Given the description of an element on the screen output the (x, y) to click on. 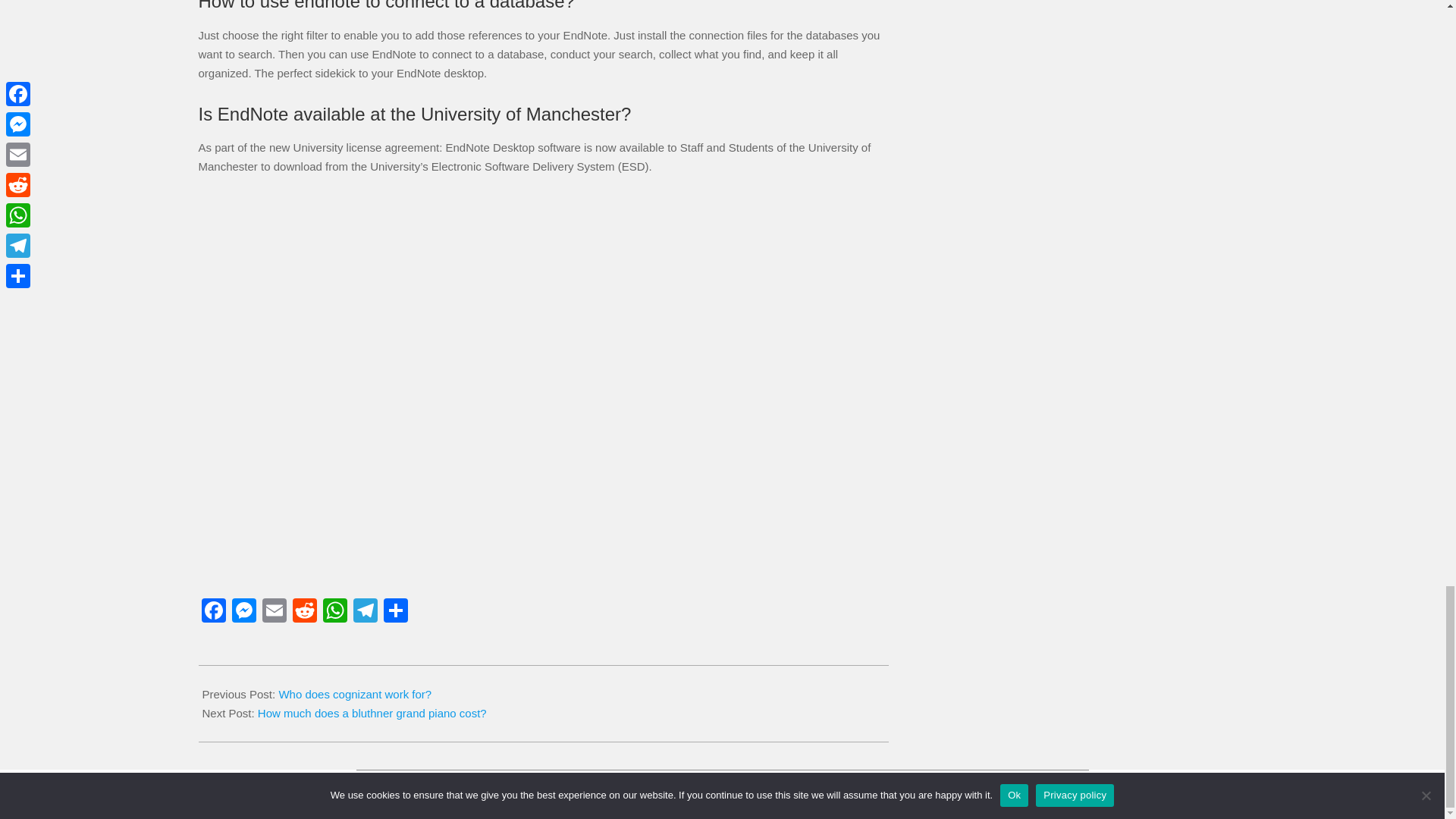
WhatsApp (335, 612)
WordPress (802, 791)
Reddit (304, 612)
Telegram (365, 612)
Reddit (304, 612)
Email (274, 612)
Who does cognizant work for? (354, 694)
Hoot Porto (704, 791)
How much does a bluthner grand piano cost? (371, 712)
Email (274, 612)
Messenger (243, 612)
Hoot Porto WordPress Theme (704, 791)
Telegram (365, 612)
Messenger (243, 612)
